Given the description of an element on the screen output the (x, y) to click on. 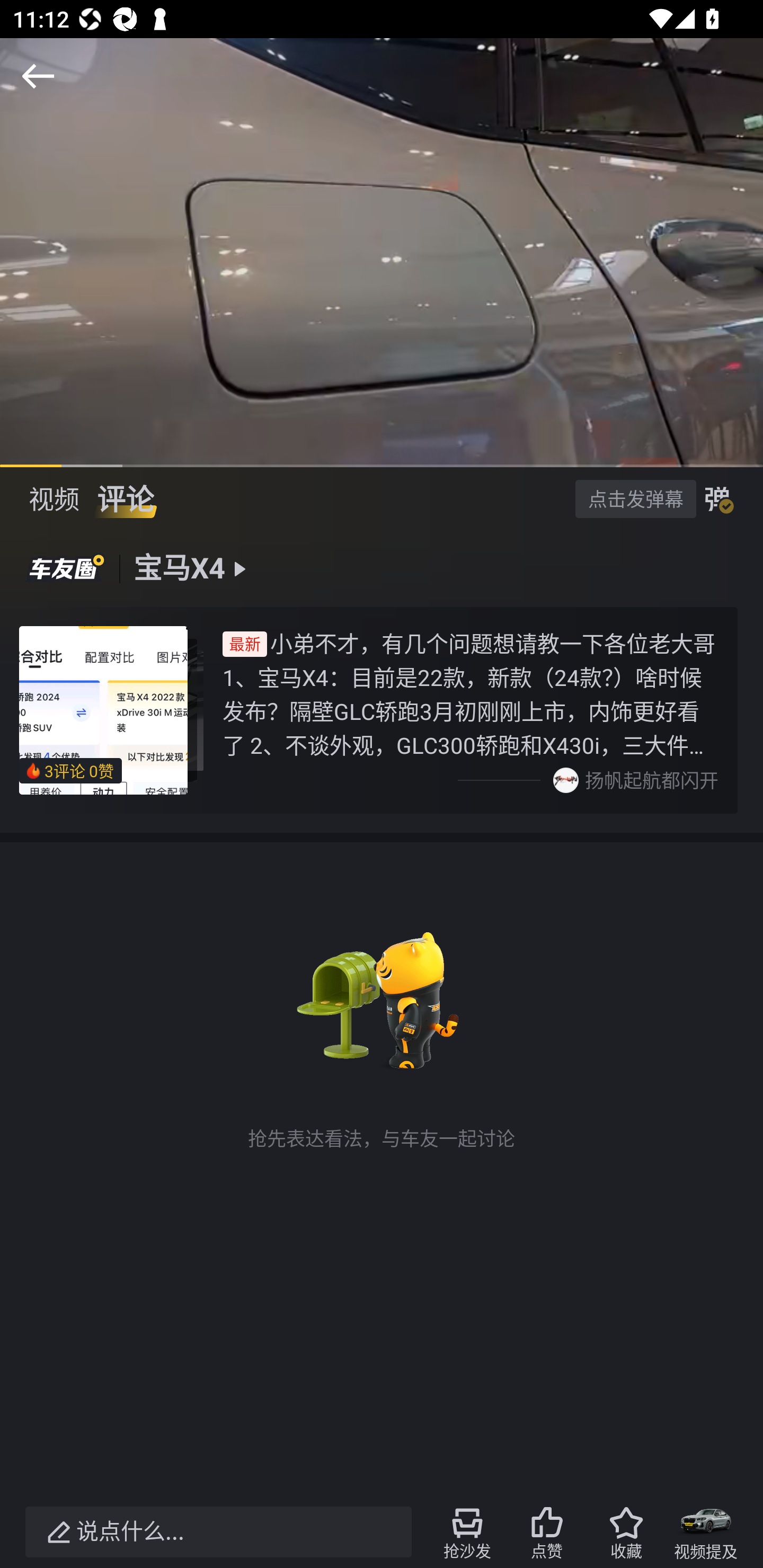
8.0 (381, 252)
 (38, 75)
视频 (53, 499)
评论 (125, 499)
点击发弹幕 (635, 498)
抢先表达看法，与车友一起讨论 (381, 1033)
 抢沙发 (467, 1531)
点赞 (546, 1531)
收藏 (625, 1531)
视频提及 (705, 1531)
 说点什么... (218, 1531)
